Given the description of an element on the screen output the (x, y) to click on. 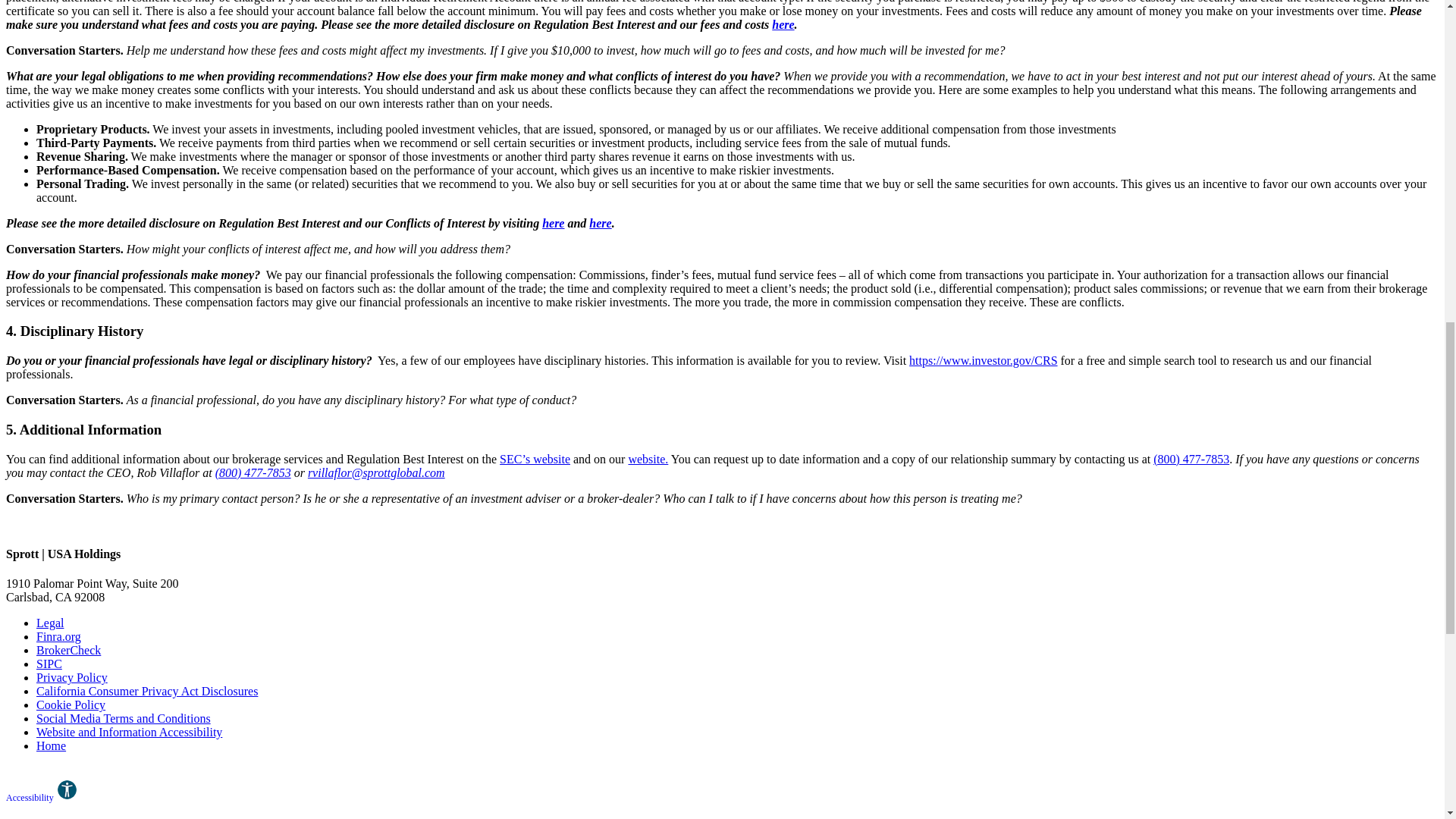
here (552, 223)
Finra.org (58, 635)
Legal (50, 622)
Website and Information Accessibility (129, 731)
Privacy Policy (71, 676)
SIPC (49, 663)
Social Media Terms and Conditions (123, 717)
Home (50, 745)
here (782, 24)
California Consumer Privacy Act Disclosures (146, 690)
Cookie Policy (70, 704)
website. (647, 459)
Accessibility  (41, 797)
Brokerage Services (647, 459)
here (600, 223)
